Given the description of an element on the screen output the (x, y) to click on. 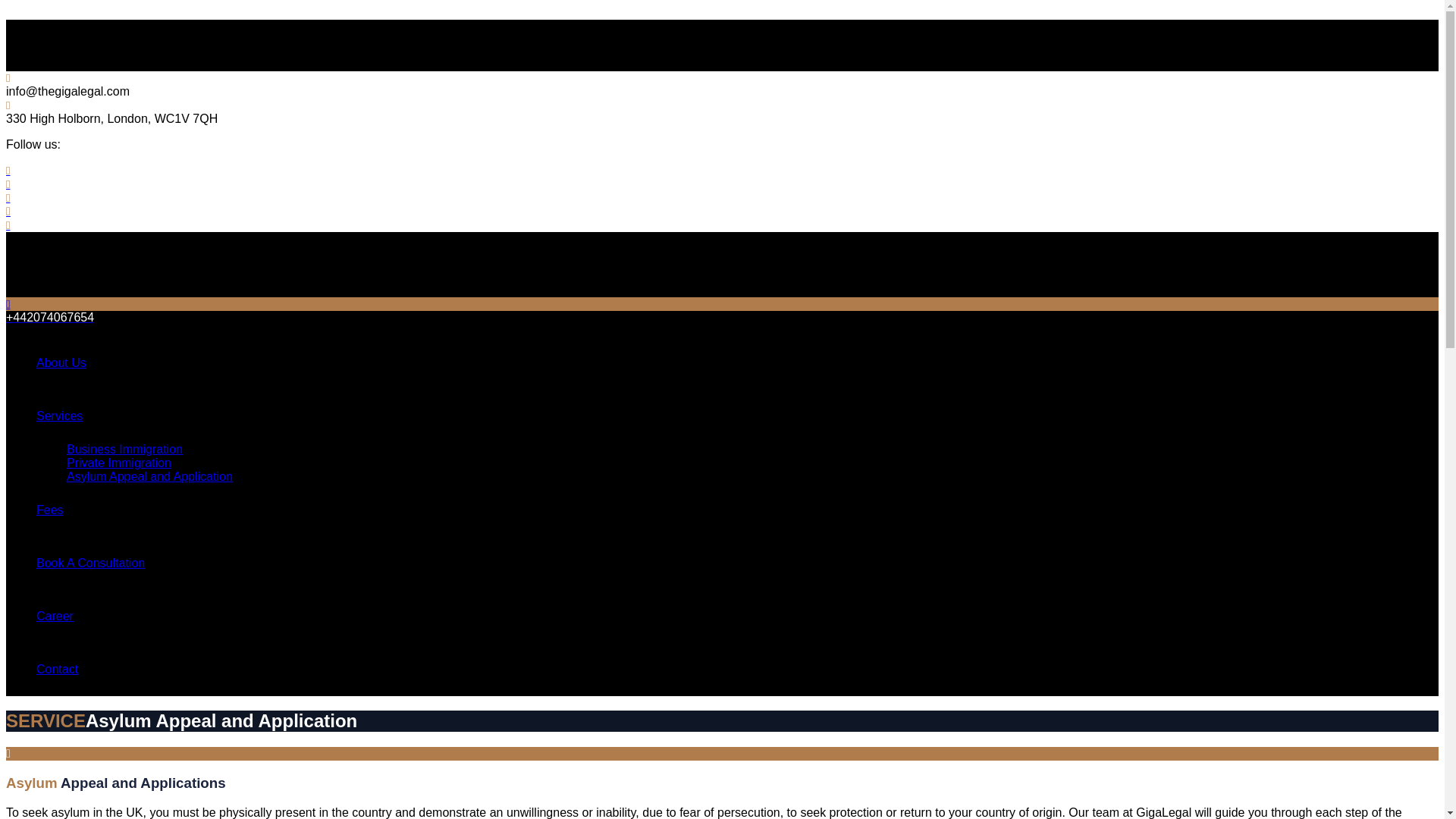
Career (55, 615)
Book A Consultation (90, 562)
About Us (60, 362)
Asylum Appeal and Application (149, 476)
Contact (57, 668)
Services (59, 415)
Private Immigration (118, 462)
Fees (50, 509)
Business Immigration (124, 449)
